Given the description of an element on the screen output the (x, y) to click on. 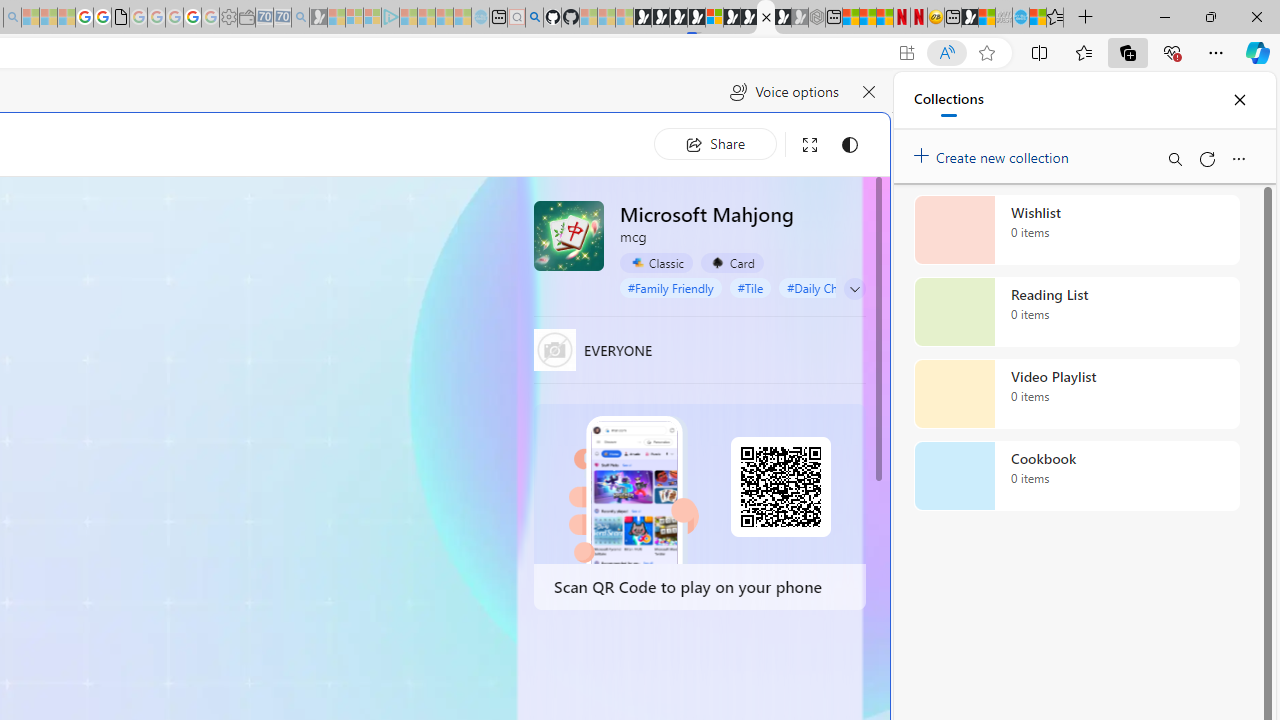
Reading List collection, 0 items (1076, 312)
Classic (656, 262)
#Family Friendly (670, 287)
